Given the description of an element on the screen output the (x, y) to click on. 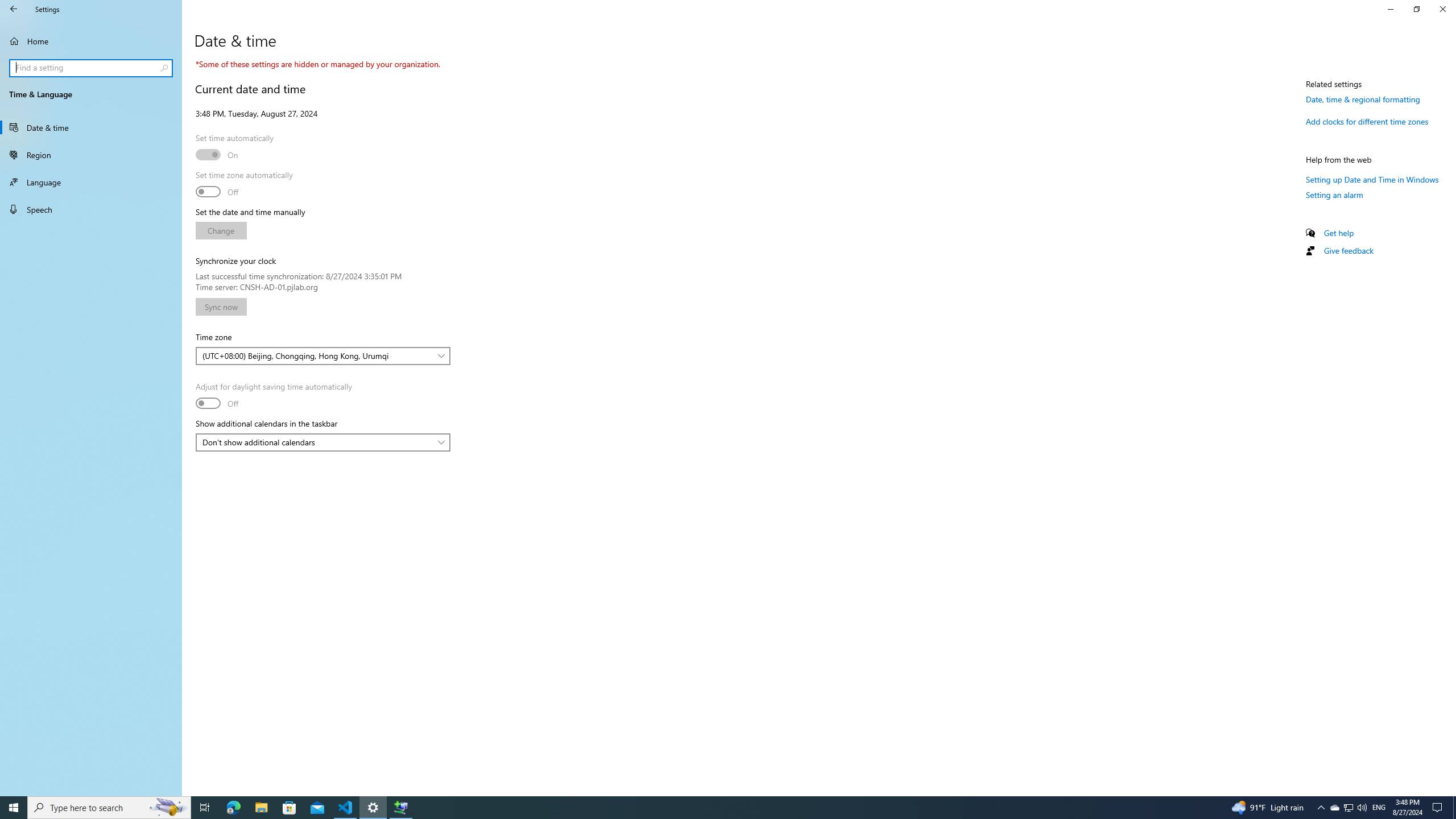
Time zone (322, 356)
